Given the description of an element on the screen output the (x, y) to click on. 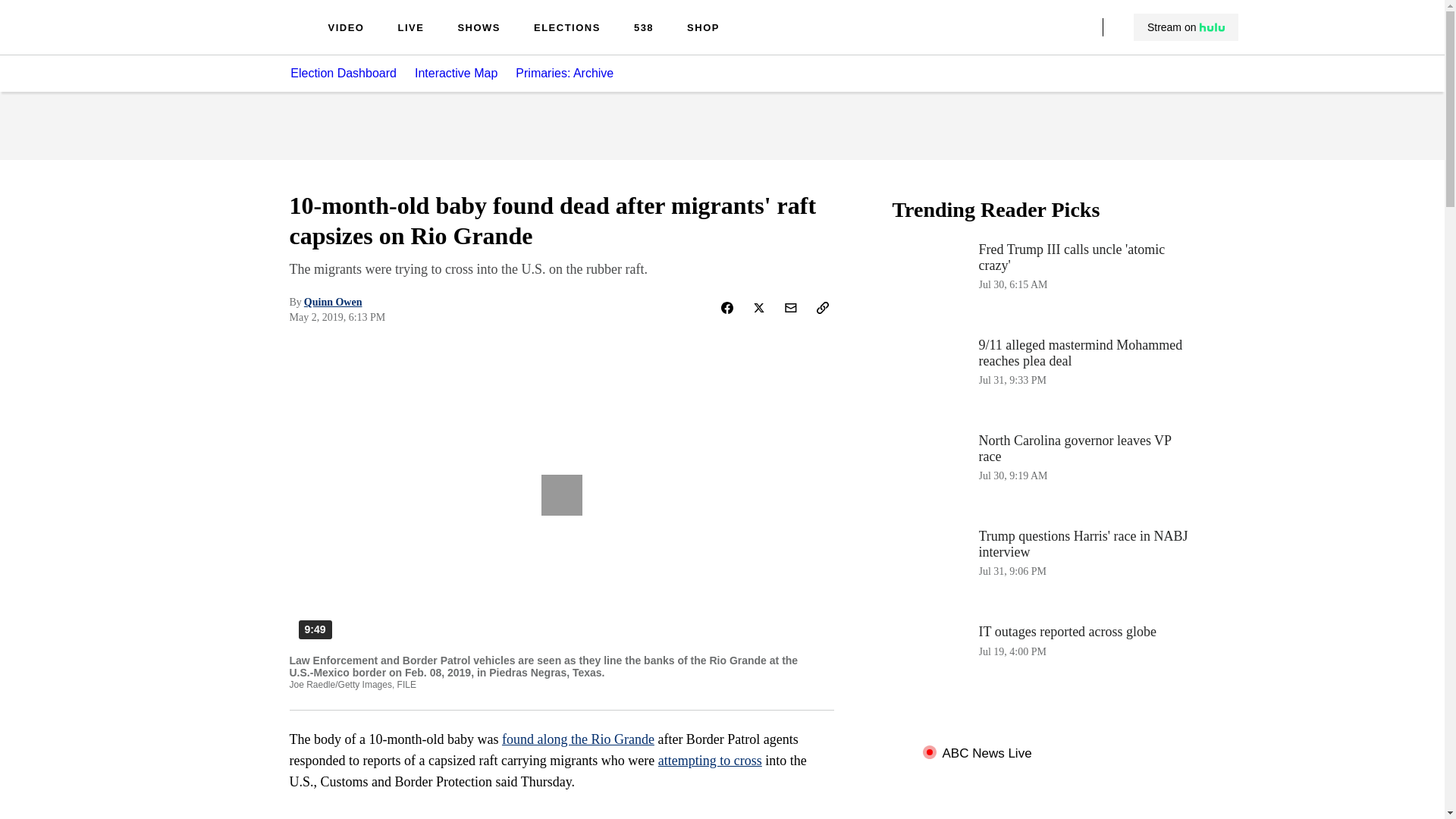
attempting to cross (1043, 471)
found along the Rio Grande (709, 760)
Stream on (577, 739)
Quinn Owen (1186, 26)
538 (333, 301)
SHOWS (643, 28)
ABC News (478, 28)
VIDEO (250, 38)
SHOP (1043, 662)
Stream on (345, 28)
ELECTIONS (703, 28)
